Given the description of an element on the screen output the (x, y) to click on. 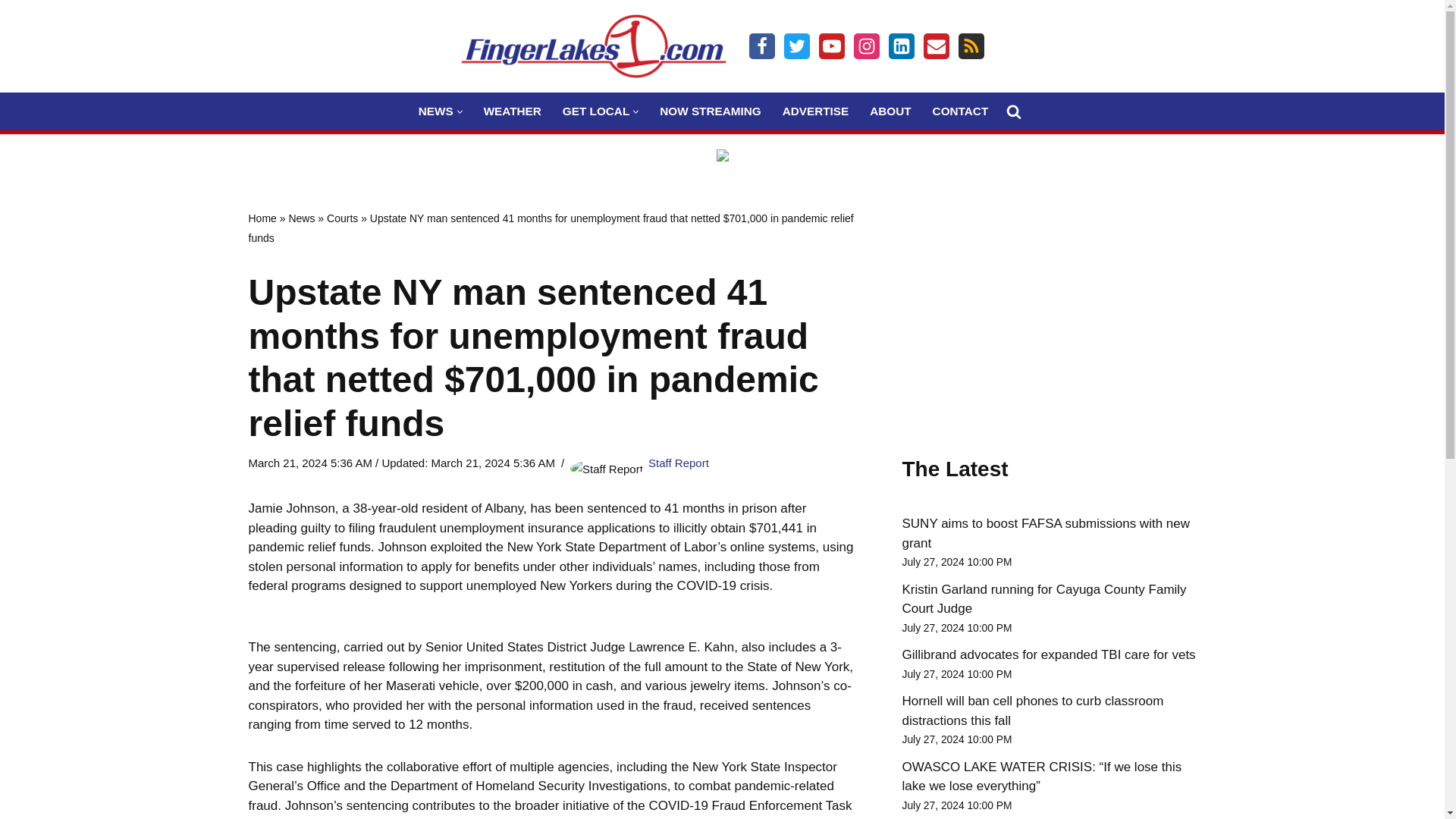
GET LOCAL (595, 111)
Email Us (936, 45)
Facebook (761, 45)
Instagram (866, 45)
ADVERTISE (815, 111)
Twitter (796, 45)
Feed (971, 45)
LinkIn (901, 45)
Posts by Staff Report (678, 462)
Skip to content (11, 31)
WEATHER (512, 111)
Youtube (831, 45)
CONTACT (960, 111)
NOW STREAMING (709, 111)
NEWS (435, 111)
